Given the description of an element on the screen output the (x, y) to click on. 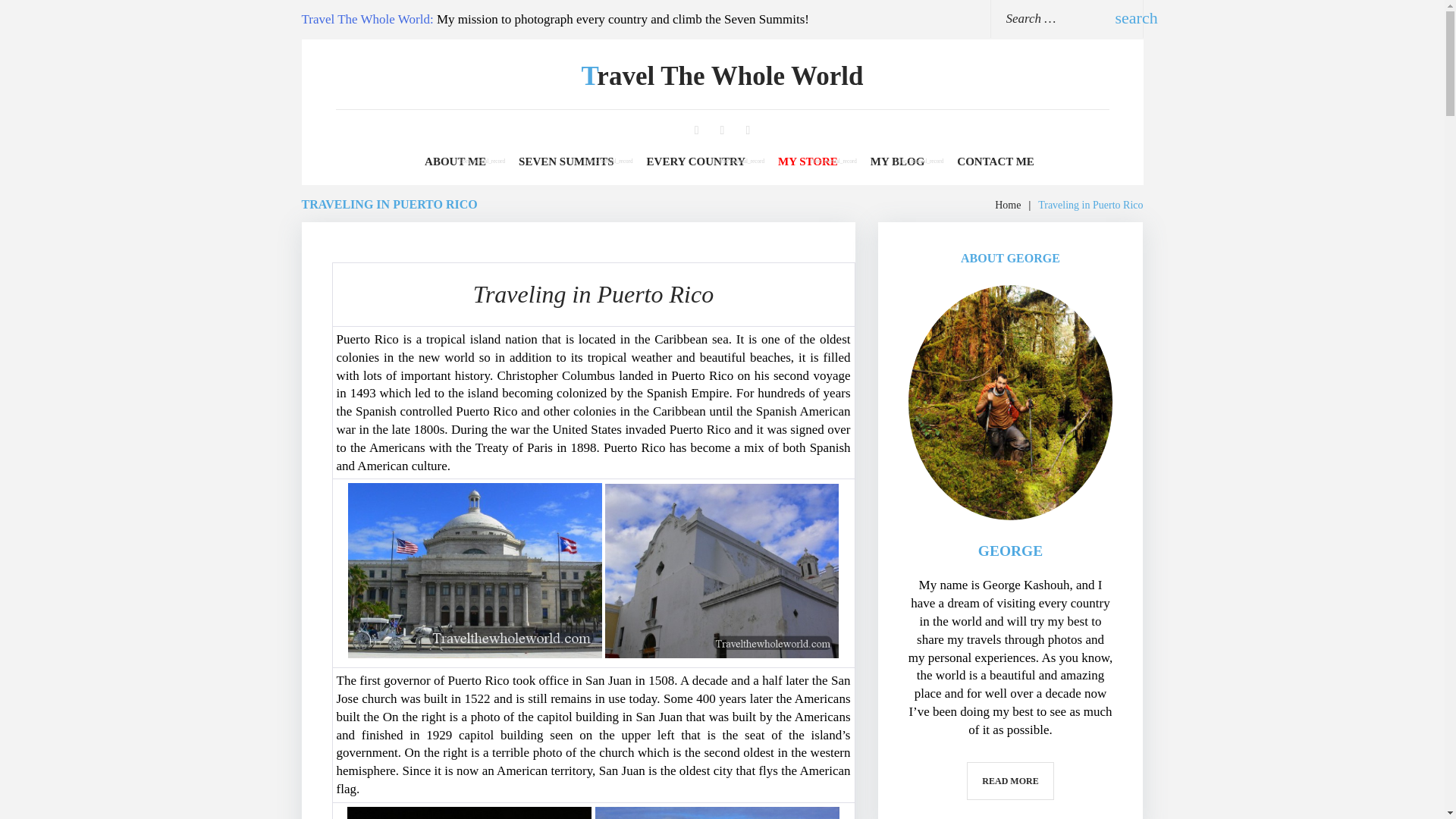
Travel The Whole World (721, 76)
SEVEN SUMMITS (565, 161)
MY BLOG (897, 161)
Travel The Whole World: (367, 19)
Search for: (1046, 18)
San Jose Church (721, 571)
MY STORE (807, 161)
EVERY COUNTRY (695, 161)
Home (1007, 204)
La Perla (717, 812)
CONTACT ME (994, 161)
Capitol Building (474, 570)
San Juan's Custom Building (469, 812)
search (1122, 17)
ABOUT ME (455, 161)
